Given the description of an element on the screen output the (x, y) to click on. 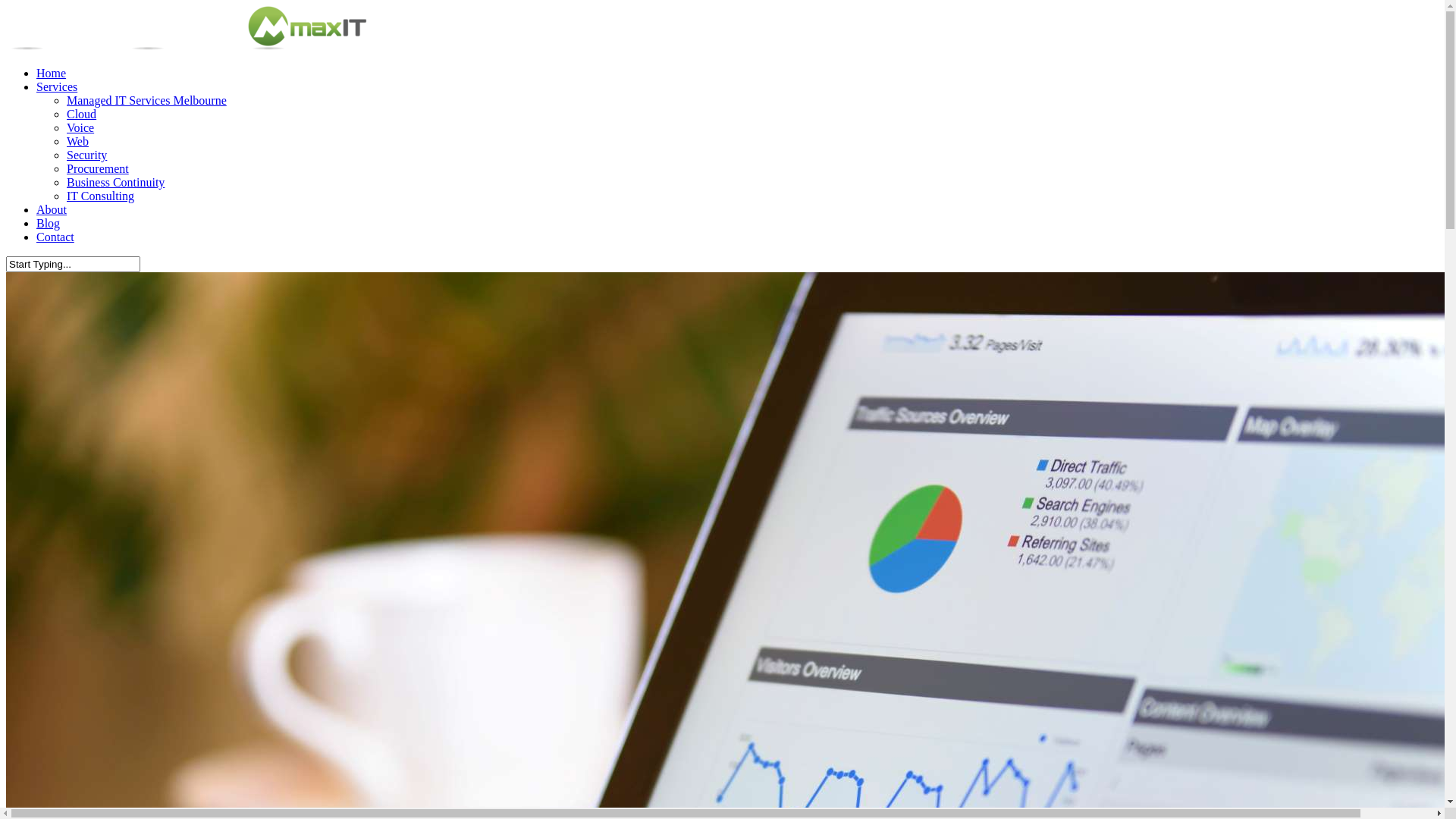
Home Element type: text (50, 72)
Procurement Element type: text (97, 168)
Blog Element type: text (47, 222)
Services Element type: text (56, 86)
Web Element type: text (77, 140)
Managed IT Services Melbourne Element type: text (146, 100)
Cloud Element type: text (81, 113)
About Element type: text (51, 209)
Security Element type: text (86, 154)
Voice Element type: text (80, 127)
Contact Element type: text (55, 236)
Business Continuity Element type: text (115, 181)
IT Consulting Element type: text (100, 195)
